Given the description of an element on the screen output the (x, y) to click on. 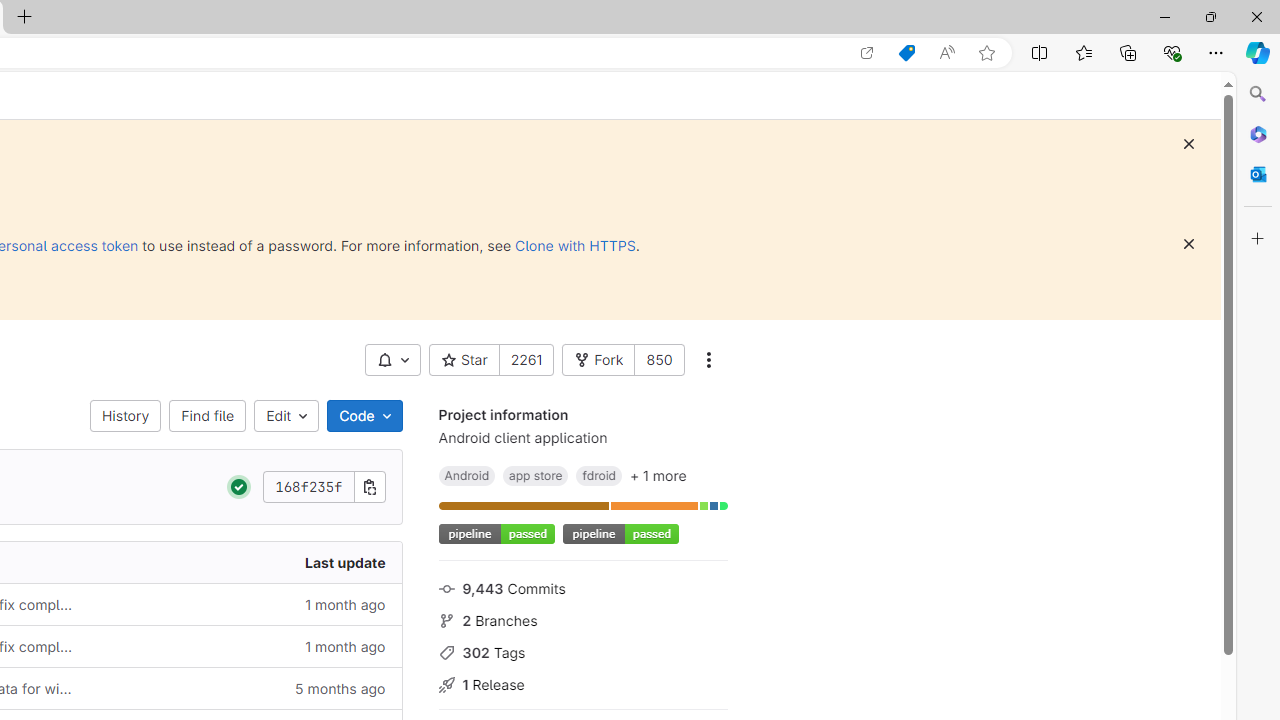
fdroid (598, 475)
2 Branches (582, 619)
Dismiss (1188, 243)
Class: s16 icon gl-mr-3 gl-text-gray-500 (445, 685)
Project badge (619, 534)
Find file (207, 416)
1 Release (582, 682)
Code (364, 416)
850 (658, 359)
app store (536, 475)
